Given the description of an element on the screen output the (x, y) to click on. 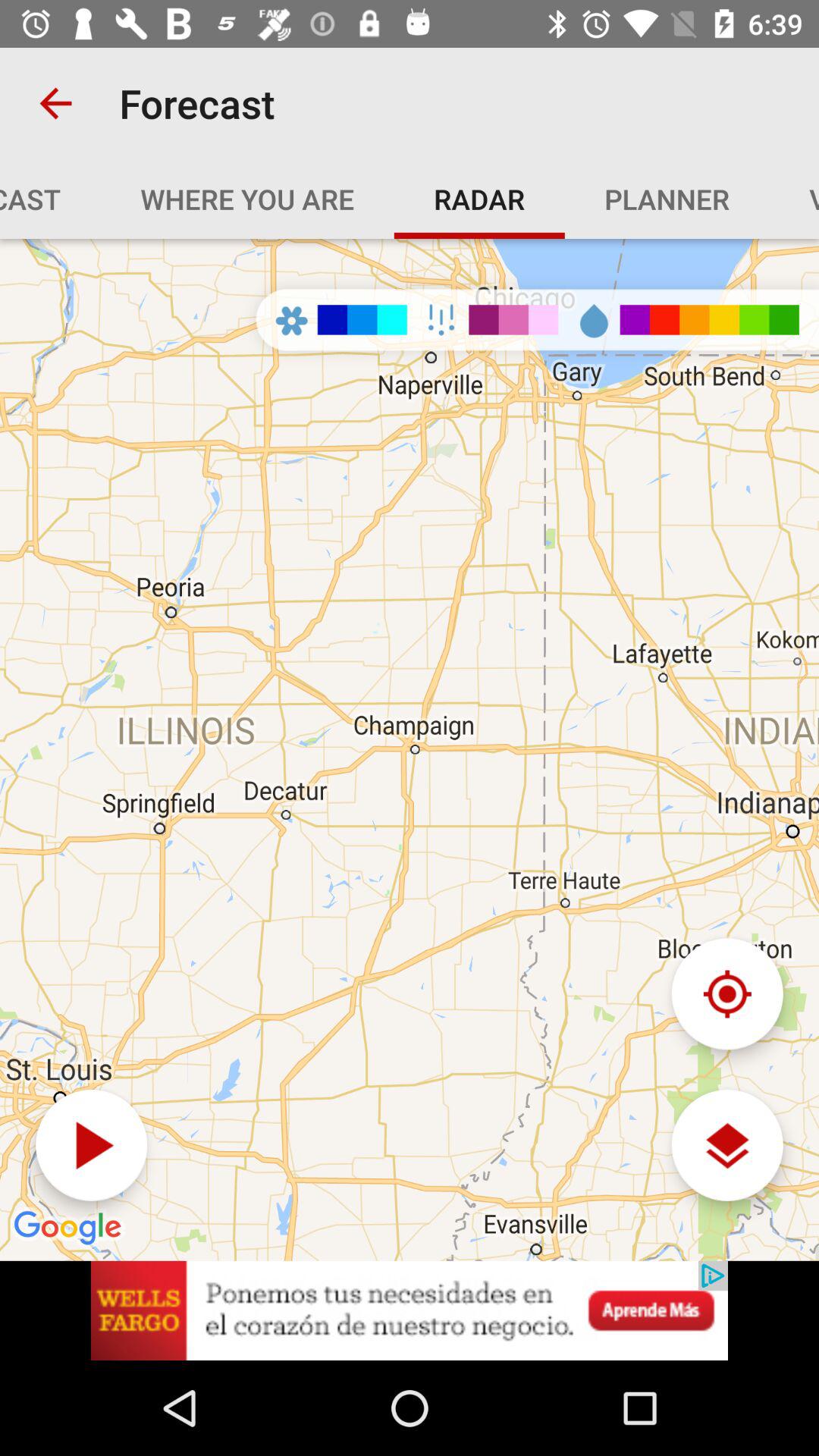
show location (727, 993)
